Given the description of an element on the screen output the (x, y) to click on. 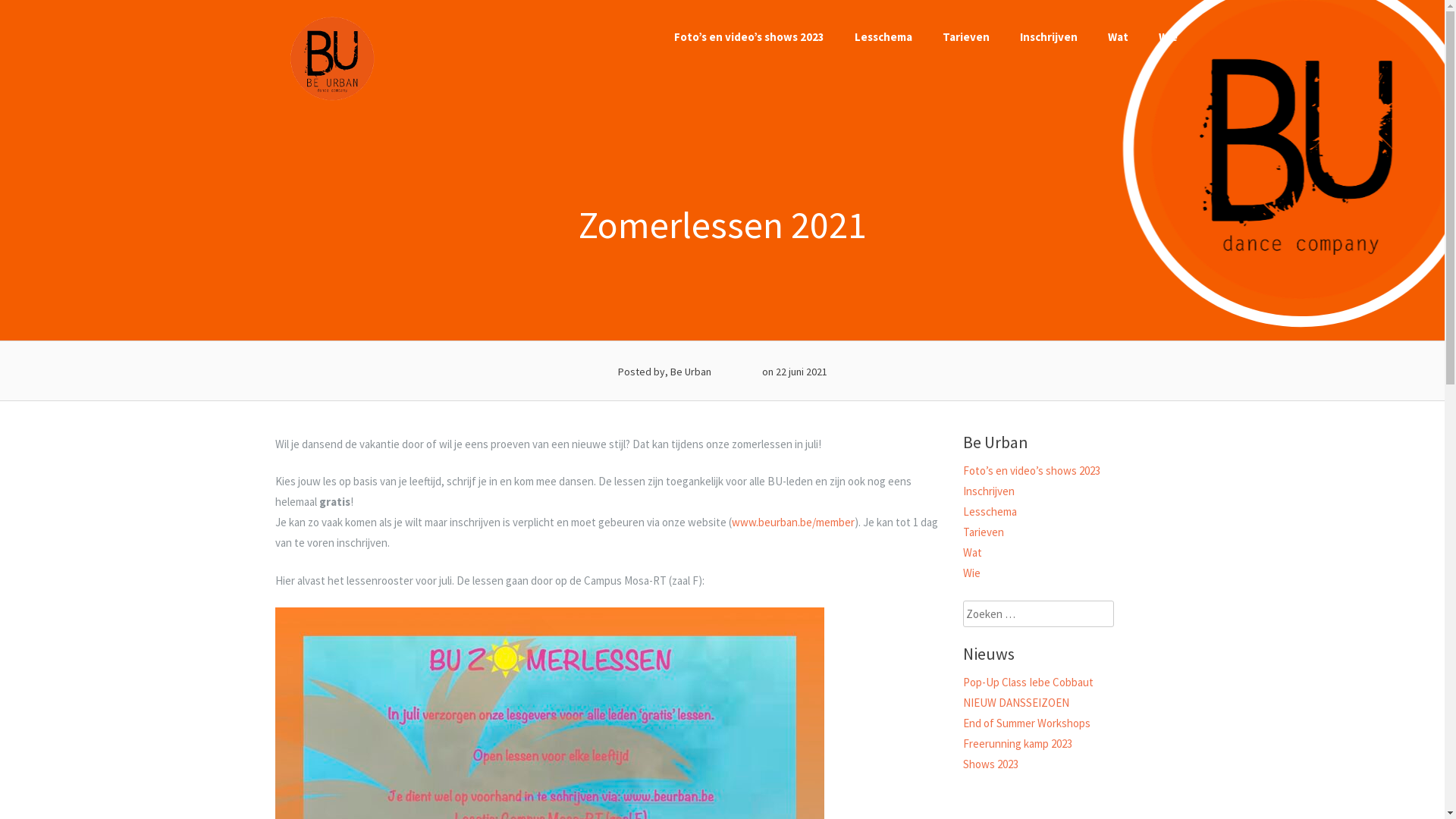
www.beurban.be/member Element type: text (792, 521)
Inschrijven Element type: text (988, 490)
Inschrijven Element type: text (1048, 36)
Be Urban Element type: hover (331, 98)
Wat Element type: text (972, 552)
Pop-Up Class Iebe Cobbaut Element type: text (1028, 681)
NIEUW DANSSEIZOEN Element type: text (1016, 702)
Zoeken Element type: text (38, 18)
Shows 2023 Element type: text (990, 763)
Lesschema Element type: text (989, 511)
Wie Element type: text (971, 572)
Wie Element type: text (1167, 36)
Skip to content Element type: text (0, 0)
Lesschema Element type: text (882, 36)
Freerunning kamp 2023 Element type: text (1017, 743)
Wat Element type: text (1117, 36)
End of Summer Workshops Element type: text (1026, 722)
Tarieven Element type: text (965, 36)
Tarieven Element type: text (983, 531)
